Given the description of an element on the screen output the (x, y) to click on. 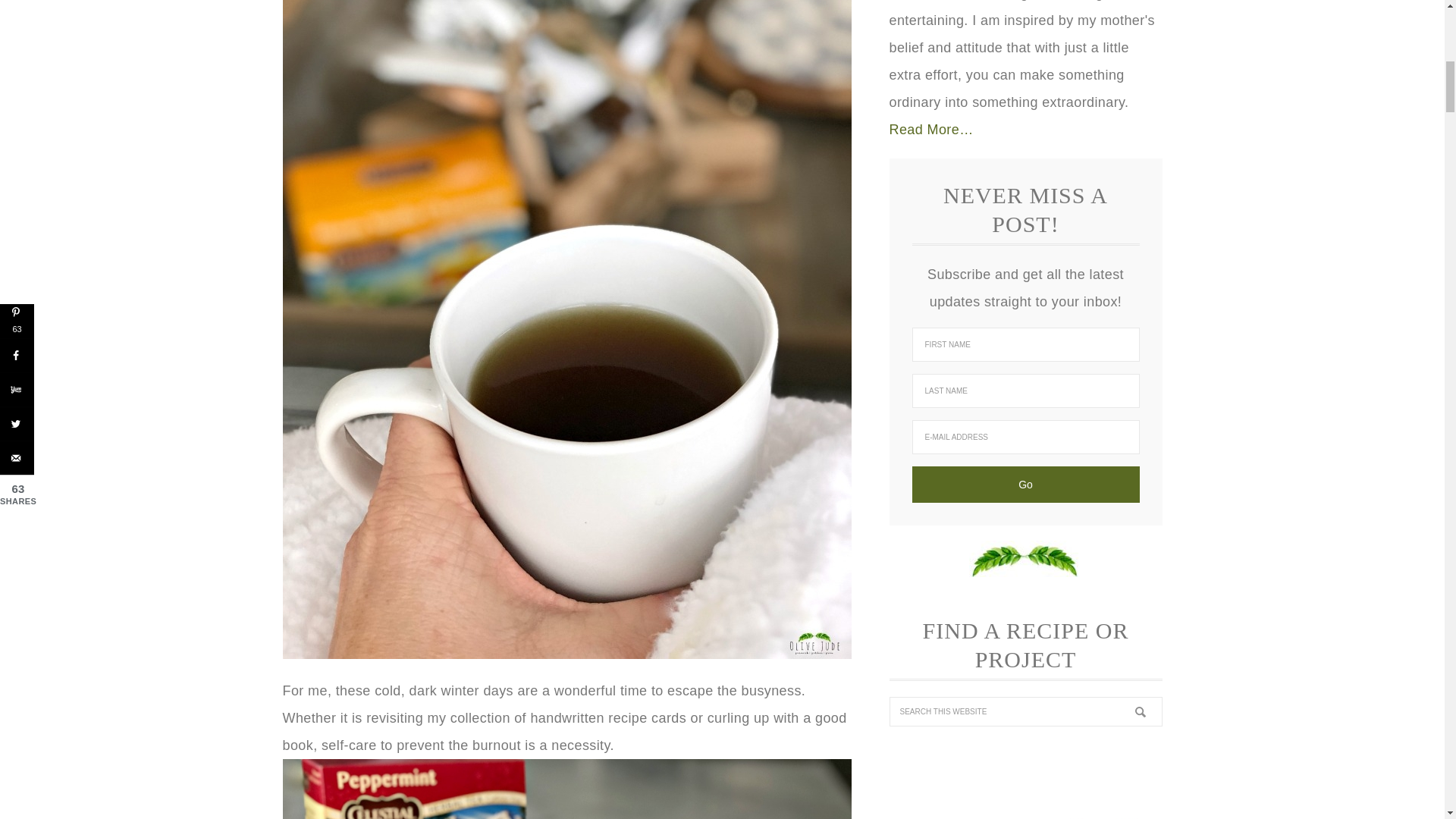
Go (1024, 484)
